Given the description of an element on the screen output the (x, y) to click on. 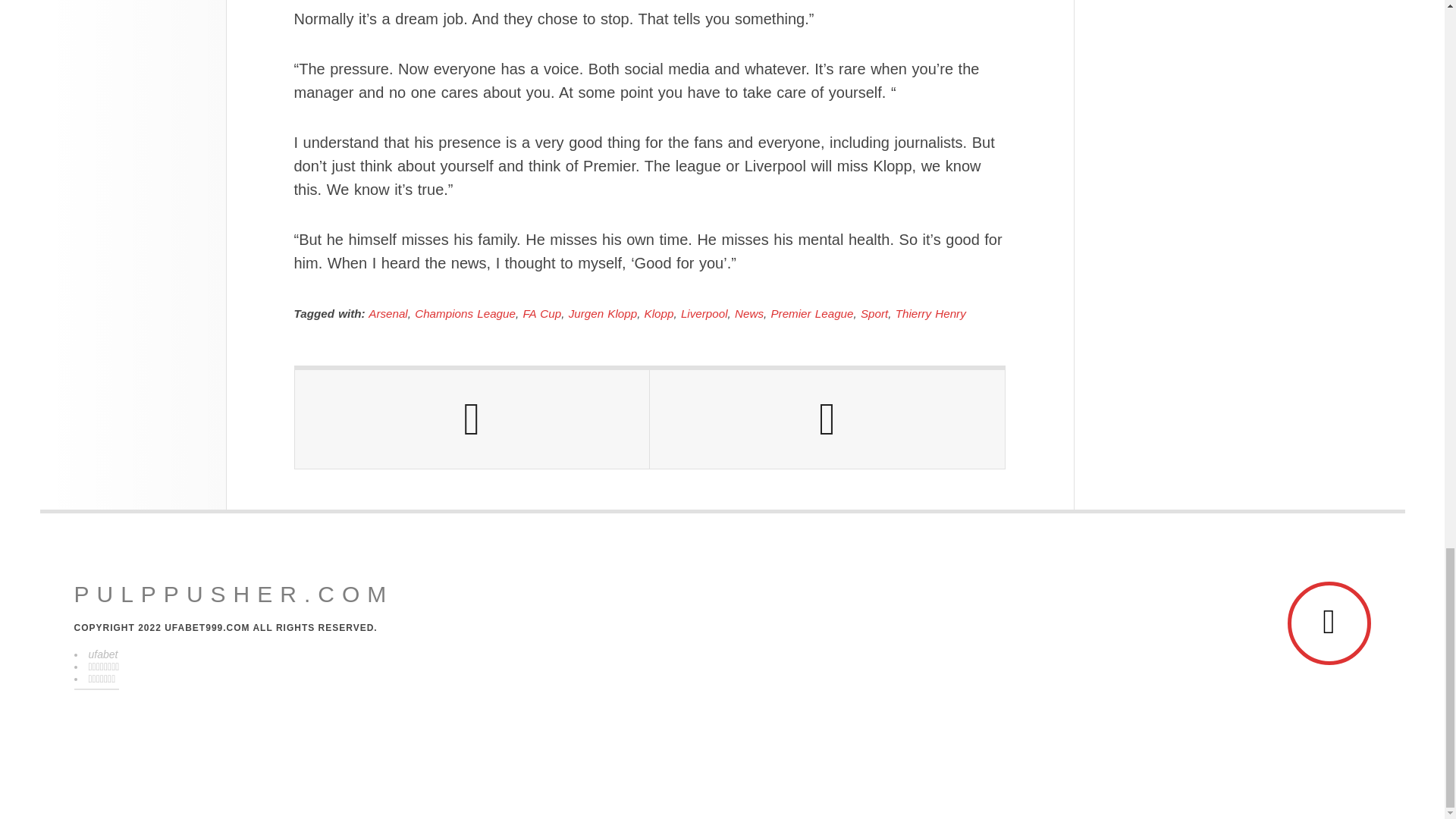
Premier League (811, 313)
Sport (874, 313)
Thierry Henry (930, 313)
Arsenal (387, 313)
News (748, 313)
Previous Post (471, 419)
Liverpool (704, 313)
Klopp (659, 313)
Champions League (464, 313)
PulpPusher.com (234, 594)
FA Cup (541, 313)
Jurgen Klopp (603, 313)
Next Post (826, 419)
